Given the description of an element on the screen output the (x, y) to click on. 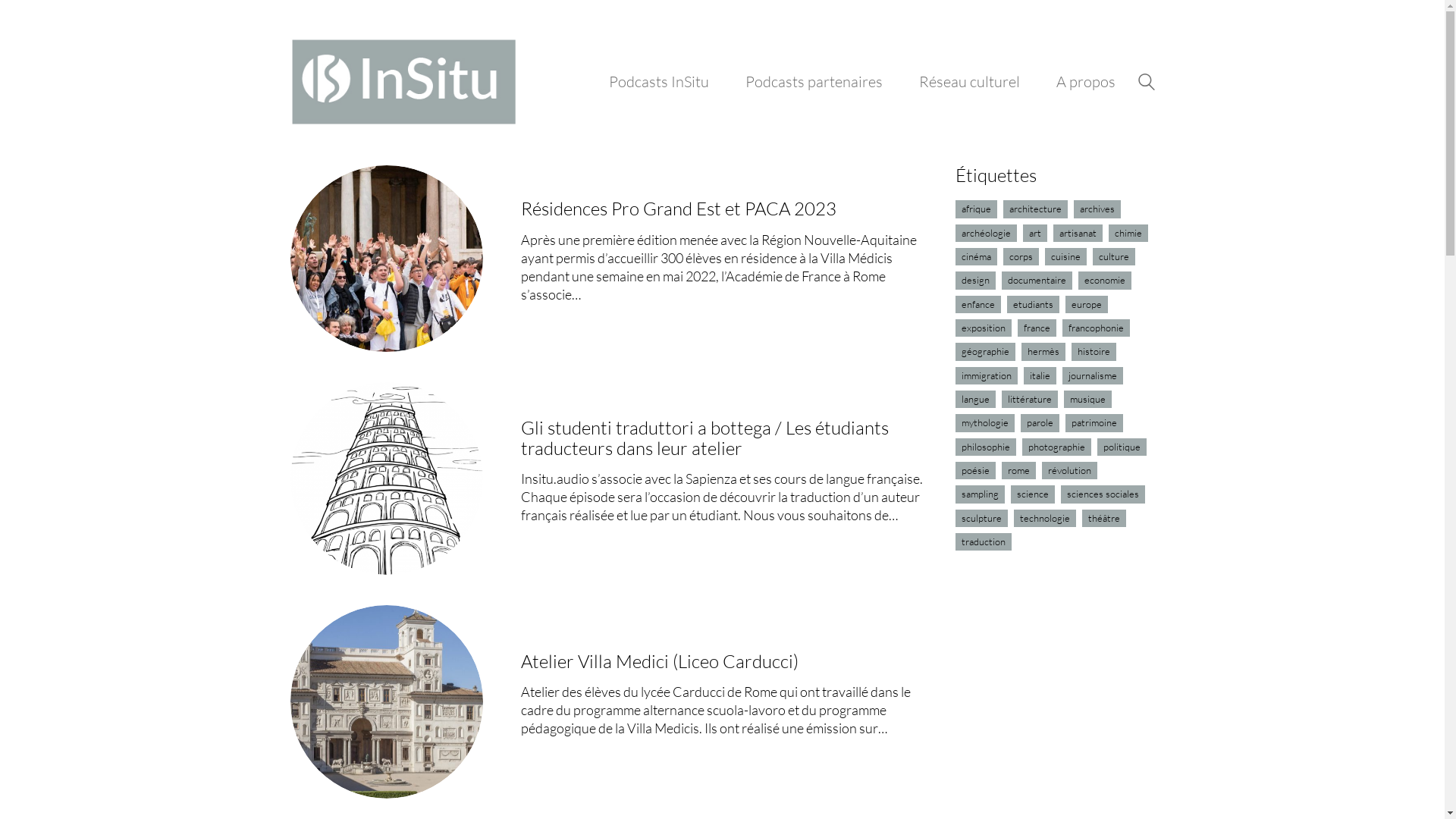
etudiants Element type: text (1033, 304)
rome Element type: text (1018, 470)
langue Element type: text (975, 398)
chimie Element type: text (1128, 232)
mythologie Element type: text (984, 422)
sampling Element type: text (979, 493)
A propos Element type: text (1084, 82)
afrique Element type: text (976, 208)
Atelier Villa Medici (Liceo Carducci) Element type: text (659, 661)
architecture Element type: text (1035, 208)
technologie Element type: text (1044, 518)
europe Element type: text (1086, 304)
art Element type: text (1034, 232)
science Element type: text (1032, 493)
francophonie Element type: text (1095, 327)
sciences sociales Element type: text (1102, 493)
culture Element type: text (1113, 256)
economie Element type: text (1104, 279)
parole Element type: text (1039, 422)
patrimoine Element type: text (1094, 422)
italie Element type: text (1039, 375)
politique Element type: text (1121, 446)
enfance Element type: text (978, 304)
traduction Element type: text (983, 541)
sculpture Element type: text (981, 518)
immigration Element type: text (986, 375)
Podcasts InSitu Element type: text (658, 82)
documentaire Element type: text (1036, 279)
exposition Element type: text (983, 327)
journalisme Element type: text (1092, 375)
Podcasts partenaires Element type: text (812, 82)
musique Element type: text (1087, 398)
artisanat Element type: text (1077, 232)
cuisine Element type: text (1065, 256)
france Element type: text (1036, 327)
philosophie Element type: text (985, 446)
archives Element type: text (1096, 208)
design Element type: text (975, 279)
corps Element type: text (1020, 256)
photographie Element type: text (1056, 446)
histoire Element type: text (1093, 351)
